Given the description of an element on the screen output the (x, y) to click on. 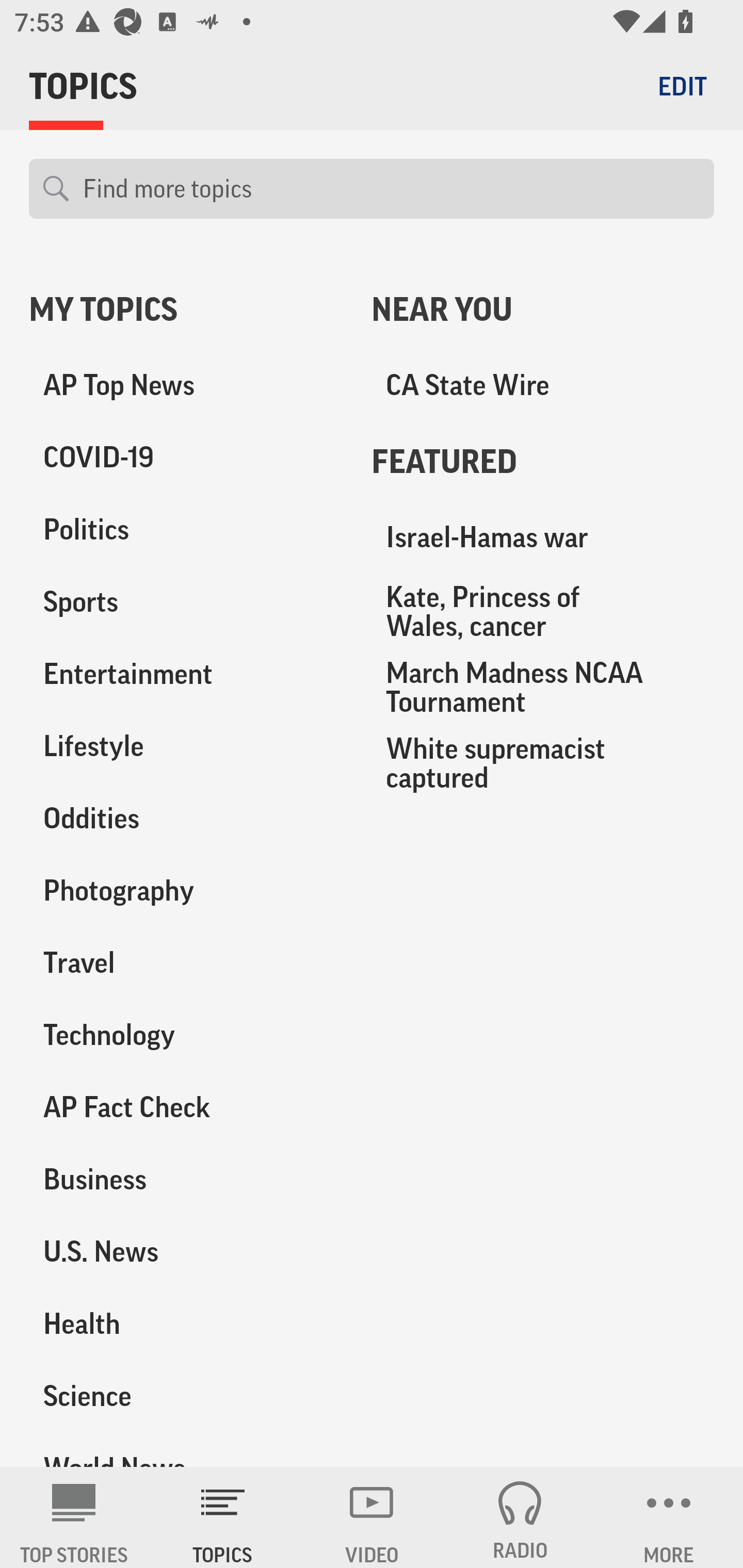
EDIT (682, 86)
Find more topics (391, 188)
AP Top News (185, 385)
CA State Wire (542, 385)
COVID-19 (185, 457)
Politics (185, 529)
Israel-Hamas war (542, 537)
Sports (185, 602)
Kate, Princess of Wales, cancer (542, 611)
Entertainment (185, 674)
March Madness NCAA Tournament (542, 686)
Lifestyle (185, 746)
White supremacist captured (542, 762)
Oddities (185, 818)
Photography (185, 890)
Travel (185, 962)
Technology (185, 1034)
AP Fact Check (185, 1106)
Business (185, 1179)
U.S. News (185, 1251)
Health (185, 1323)
Science (185, 1395)
AP News TOP STORIES (74, 1517)
TOPICS (222, 1517)
VIDEO (371, 1517)
RADIO (519, 1517)
MORE (668, 1517)
